Given the description of an element on the screen output the (x, y) to click on. 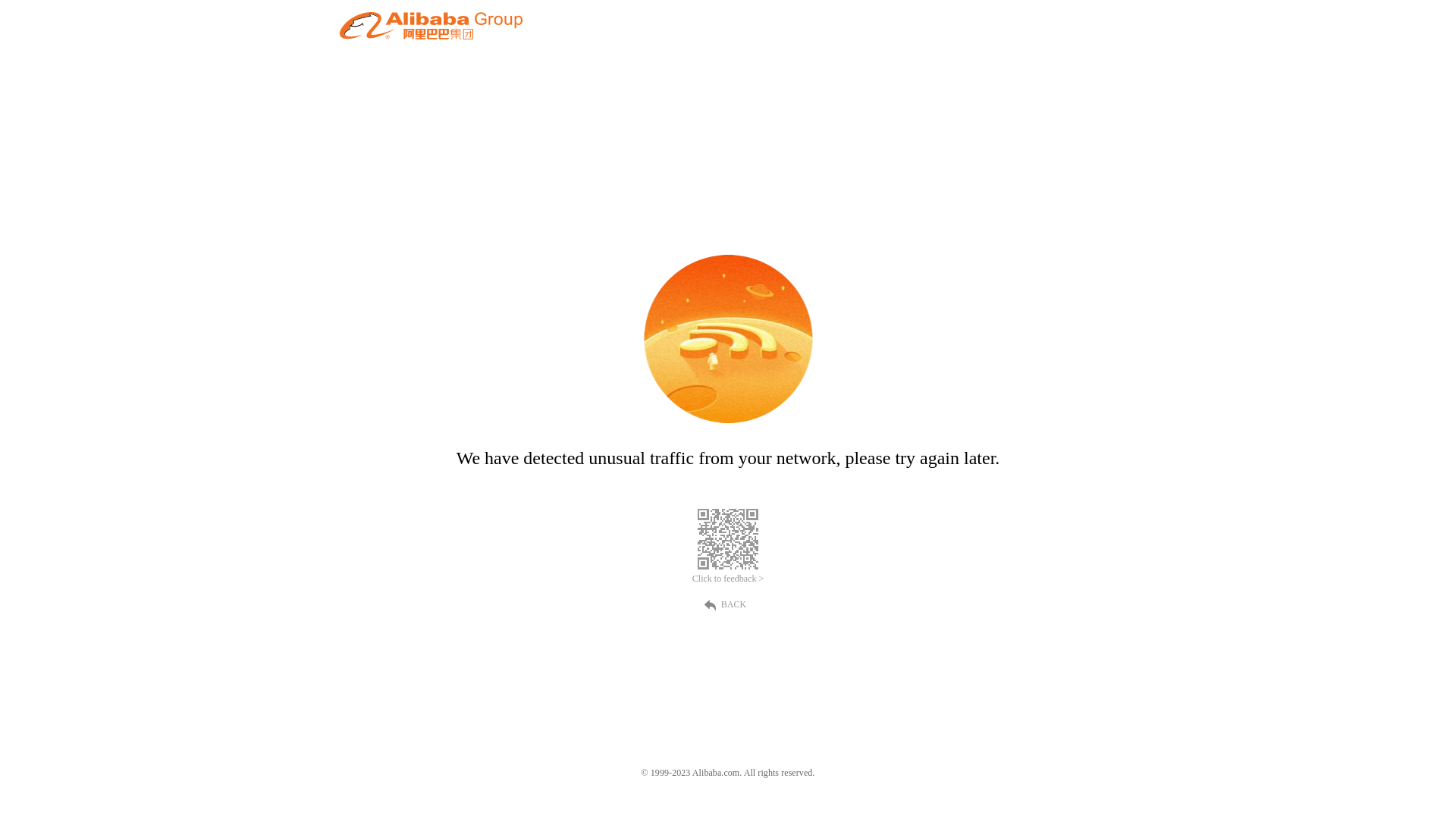
Click to feedback > Element type: text (727, 578)
BACK Element type: text (727, 603)
